Given the description of an element on the screen output the (x, y) to click on. 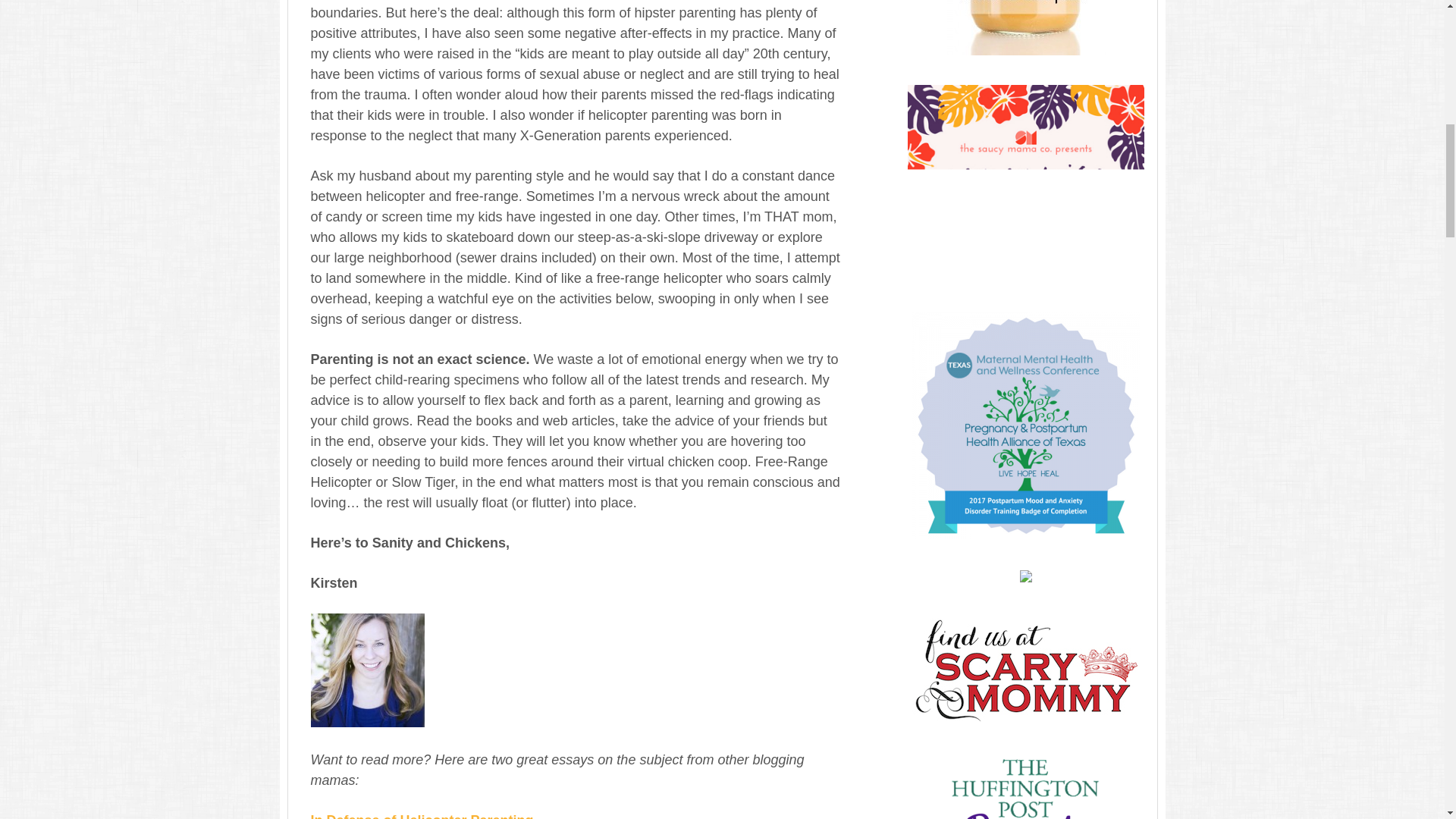
In Defense of Helicopter Parenting (422, 816)
In Defense of Helicopter Parenting (422, 816)
